Given the description of an element on the screen output the (x, y) to click on. 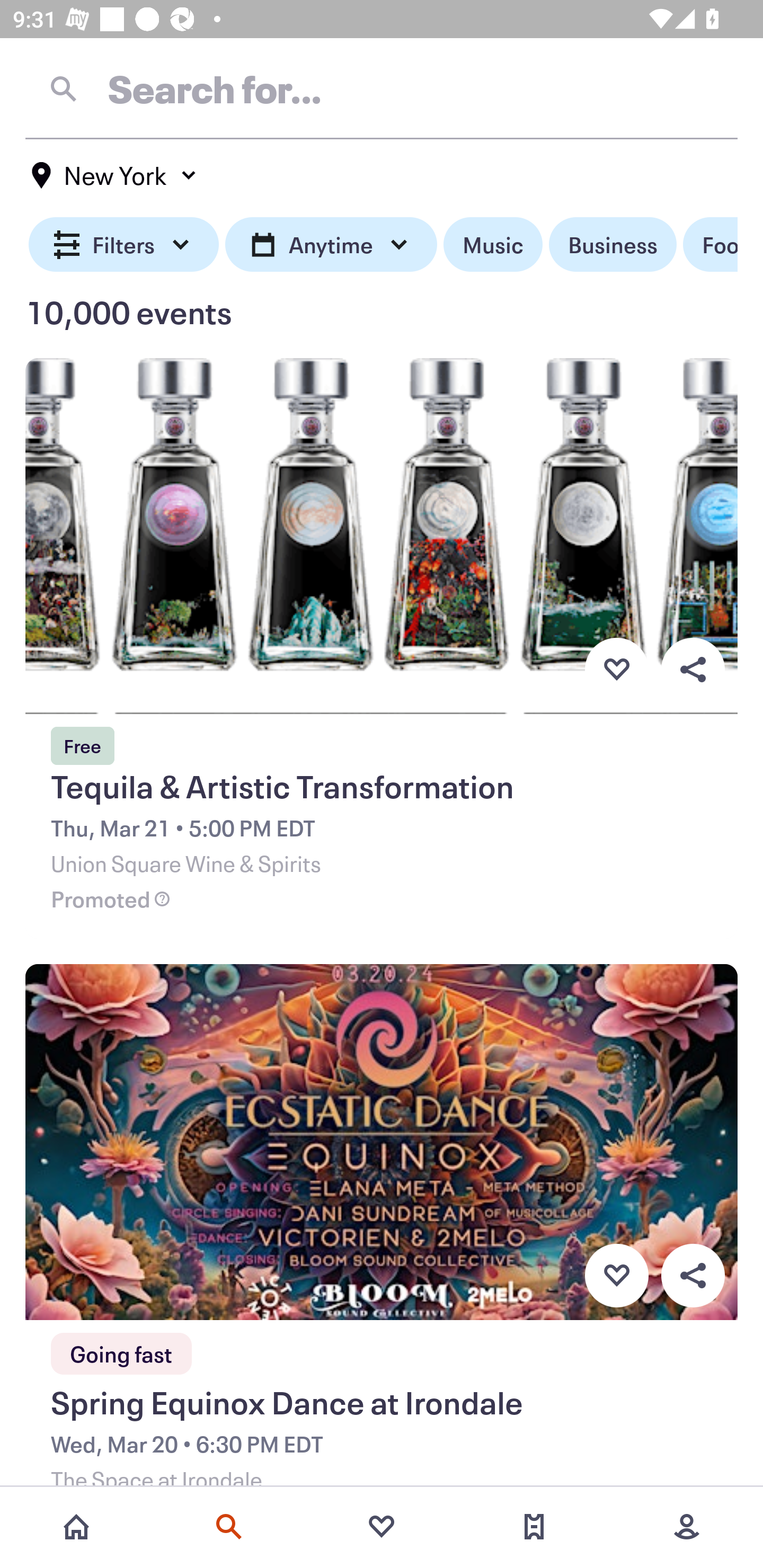
Search for… (381, 88)
New York (114, 175)
Filters (123, 244)
Anytime (331, 244)
Music (492, 244)
Business (612, 244)
Favorite button (616, 669)
Overflow menu button (692, 669)
Favorite button (616, 1275)
Overflow menu button (692, 1275)
Home (76, 1526)
Search events (228, 1526)
Favorites (381, 1526)
Tickets (533, 1526)
More (686, 1526)
